Given the description of an element on the screen output the (x, y) to click on. 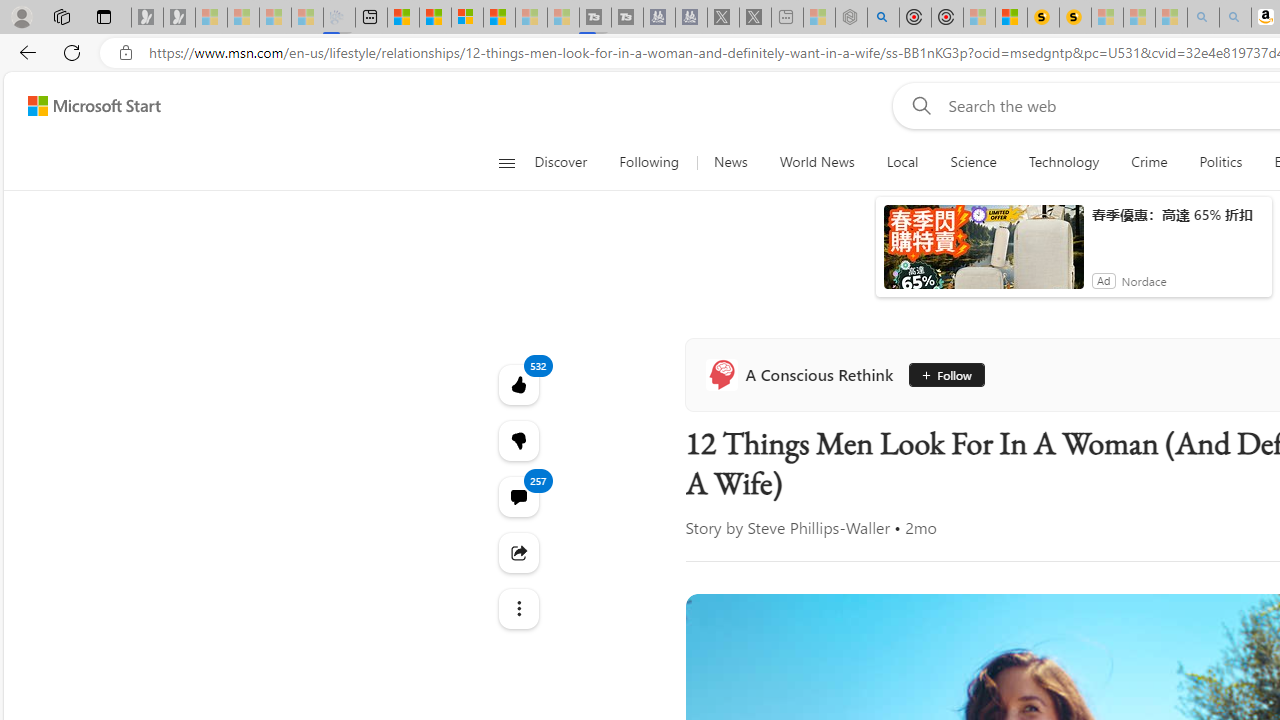
Local (902, 162)
A Conscious Rethink (803, 374)
More like this532Fewer like thisView comments (517, 440)
Amazon Echo Dot PNG - Search Images - Sleeping (1234, 17)
Share this story (517, 552)
